Given the description of an element on the screen output the (x, y) to click on. 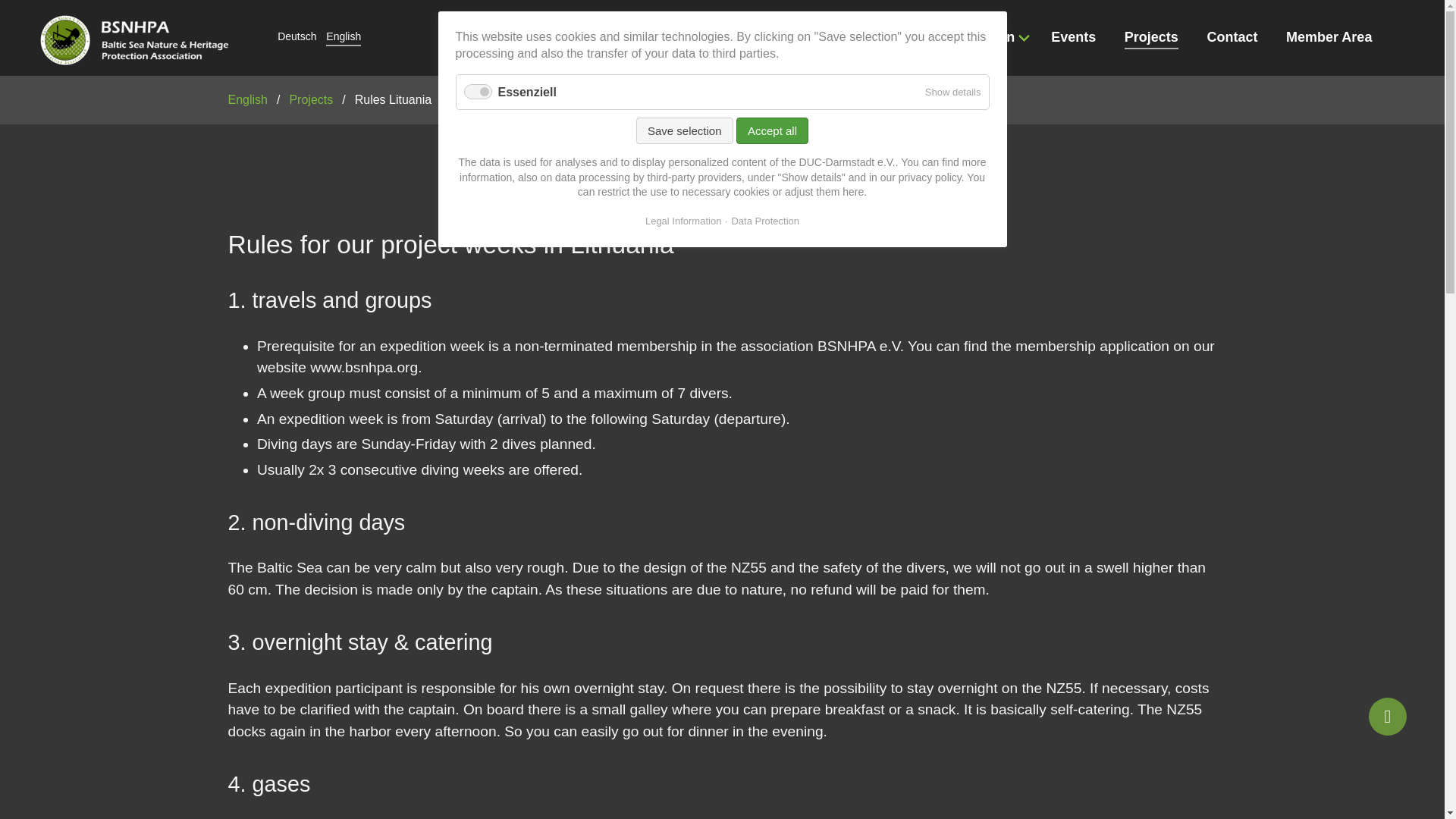
Member Area (1333, 38)
Deutsch (291, 37)
Events (1078, 38)
Contact (1236, 38)
Rules Lituania (339, 37)
Show details (952, 91)
CCookie consent (1387, 716)
Projects (1156, 38)
The association (975, 37)
Events (1078, 38)
Projects (310, 99)
Projects (1156, 38)
English (339, 37)
Member Area (1333, 38)
Rules Lituania (393, 99)
